Given the description of an element on the screen output the (x, y) to click on. 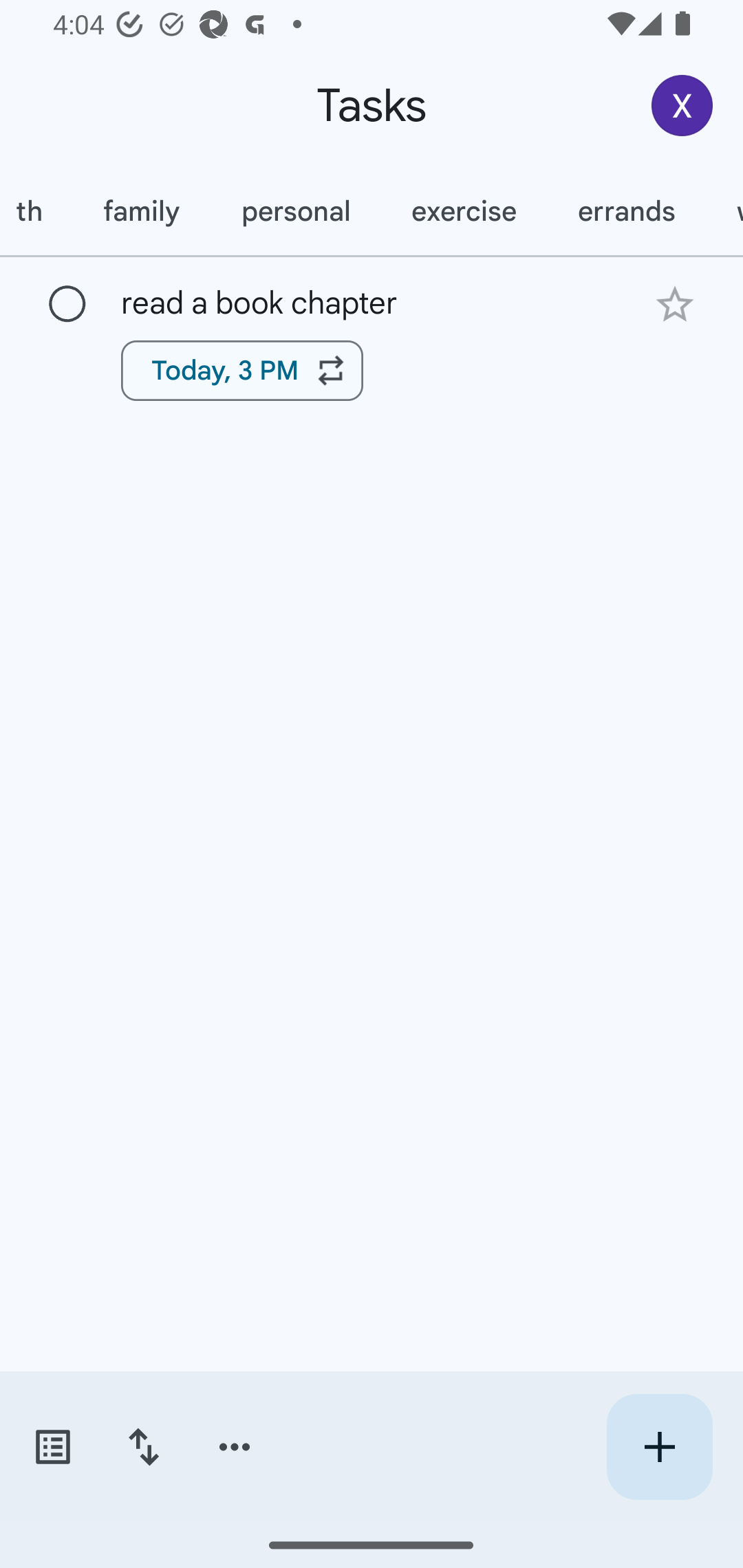
family (141, 211)
personal (295, 211)
exercise (463, 211)
errands (625, 211)
Add star (674, 303)
Mark as complete (67, 304)
Today, 3 PM (242, 369)
Switch task lists (52, 1447)
Create new task (659, 1446)
Change sort order (143, 1446)
More options (234, 1446)
